Given the description of an element on the screen output the (x, y) to click on. 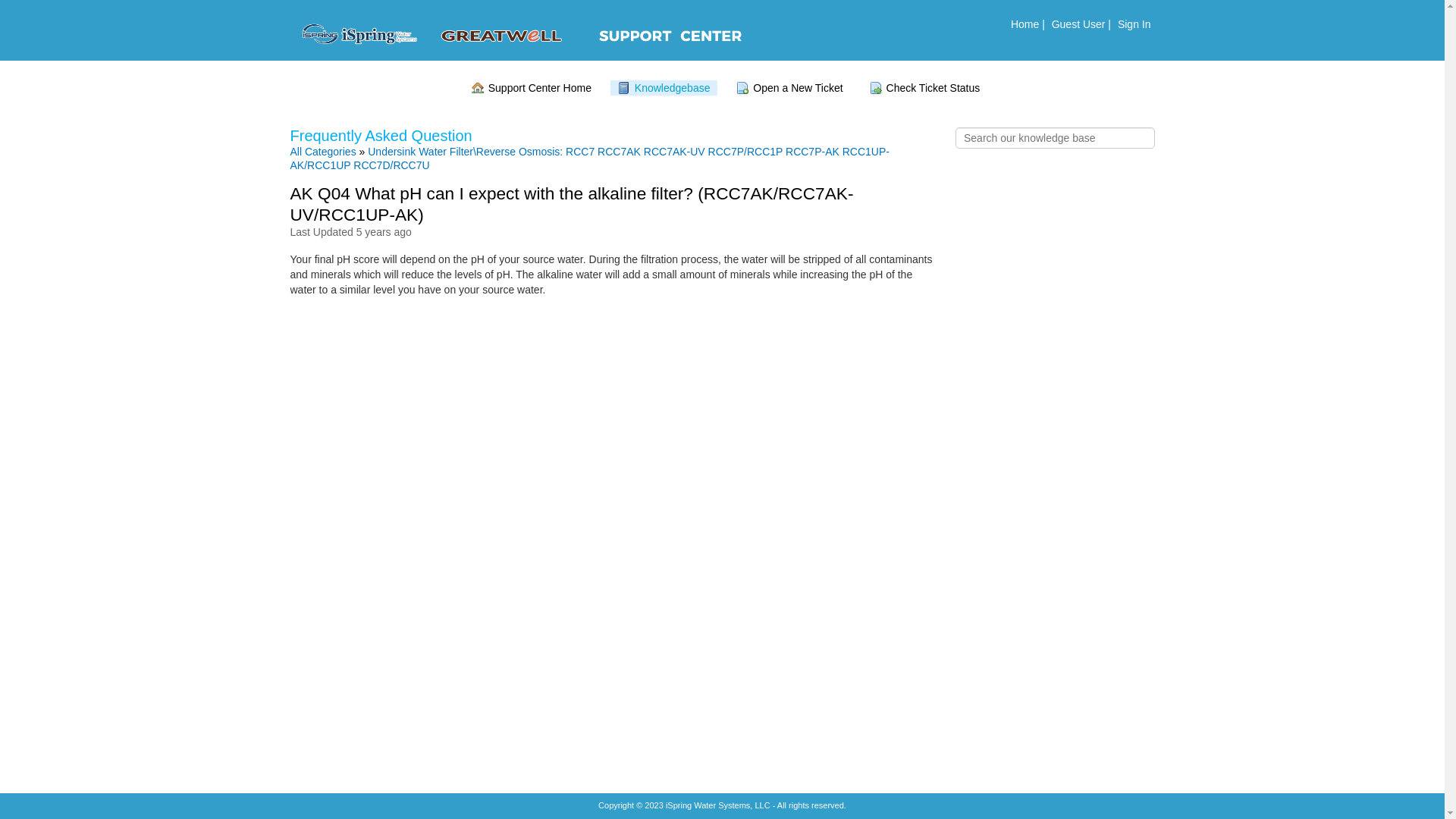
Open a New Ticket Element type: text (789, 87)
All Categories Element type: text (322, 151)
Support Center Element type: hover (521, 41)
Home | Element type: text (1027, 22)
Support Center Home Element type: text (531, 87)
Sign In Element type: text (1133, 22)
Check Ticket Status Element type: text (925, 87)
search Element type: text (21, 8)
Knowledgebase Element type: text (664, 87)
